Given the description of an element on the screen output the (x, y) to click on. 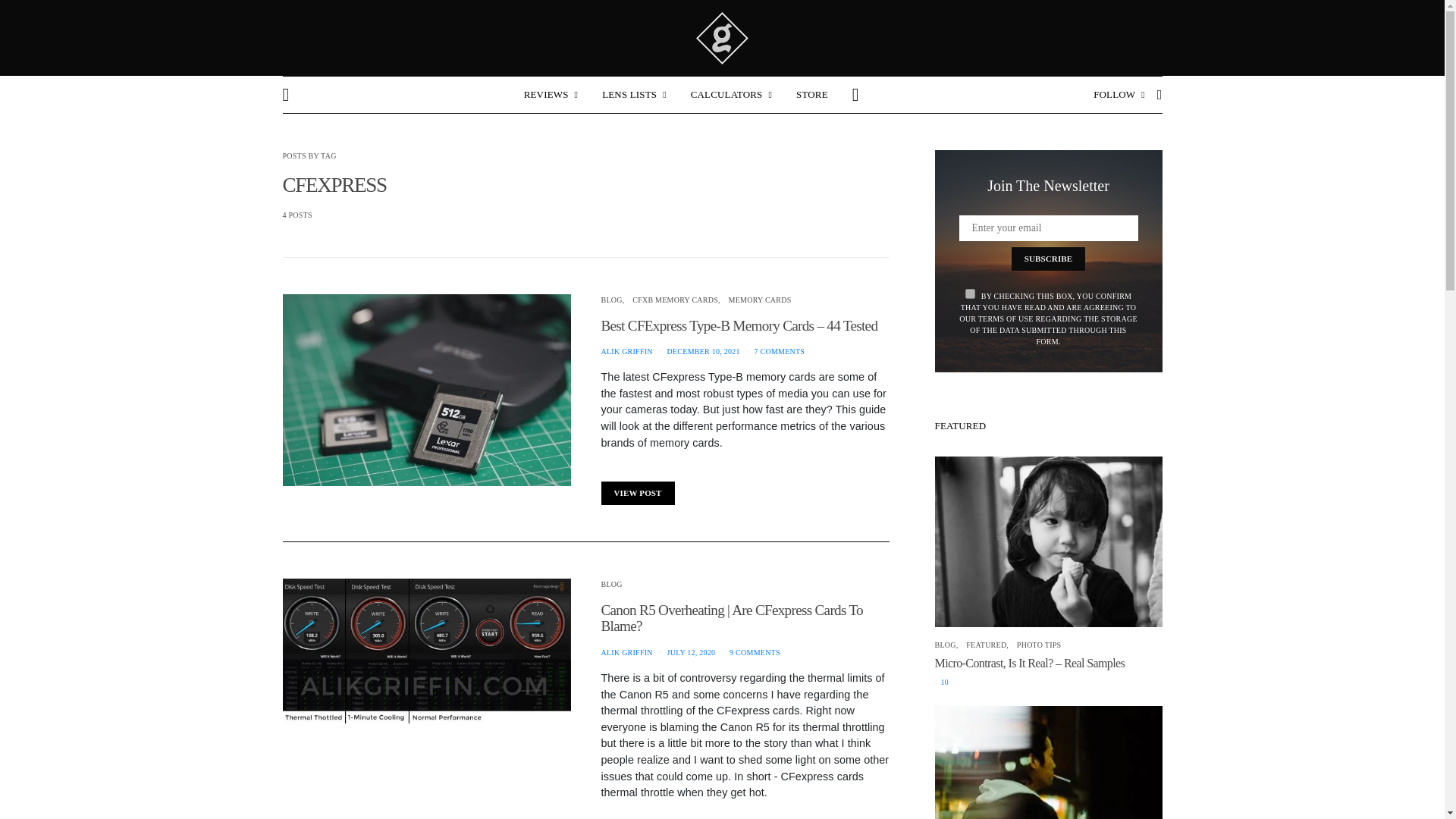
on (970, 293)
View all posts by Alik Griffin (625, 351)
View all posts by Alik Griffin (625, 652)
